Given the description of an element on the screen output the (x, y) to click on. 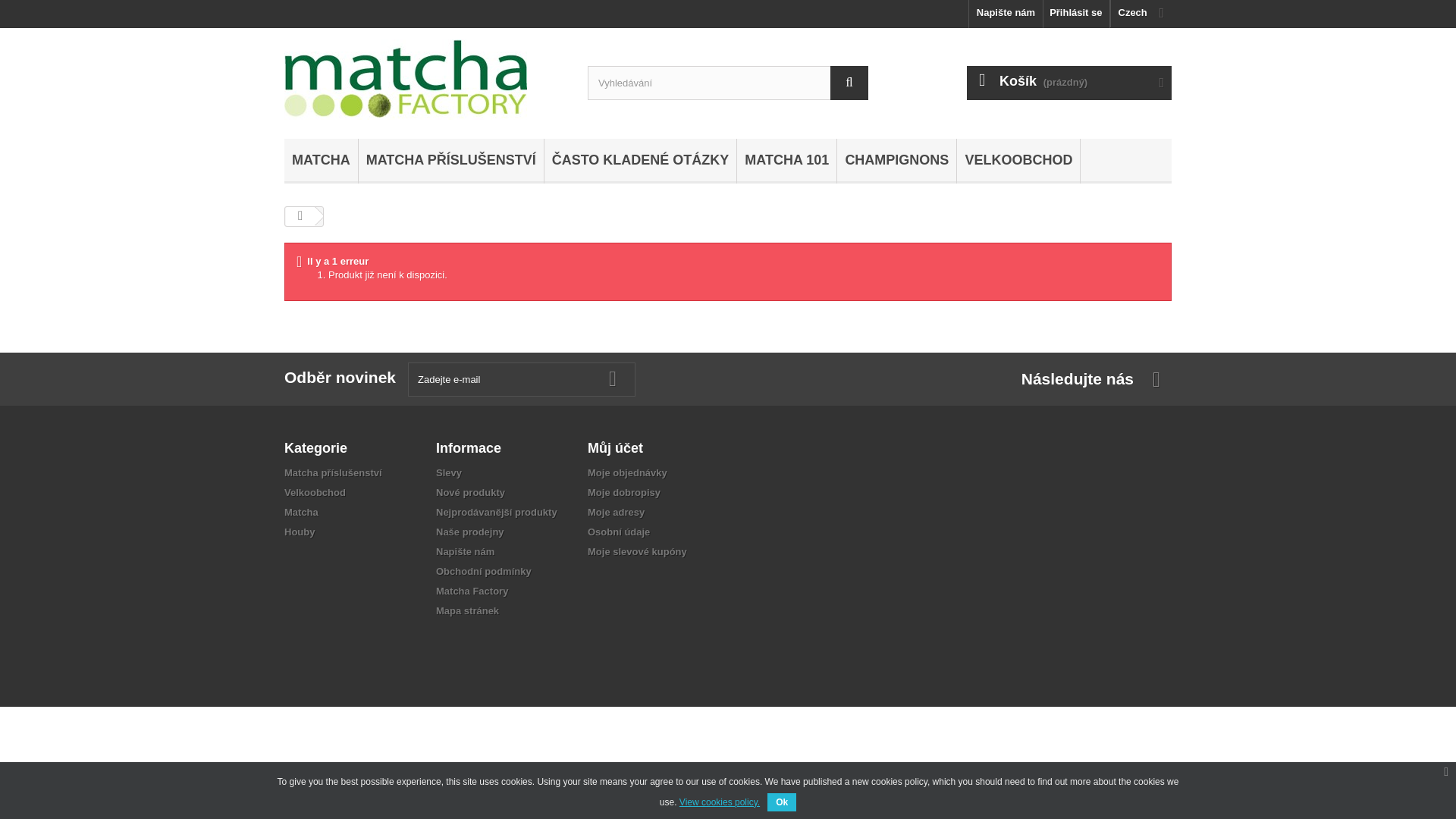
Matcha Factory (423, 79)
MATCHA (320, 160)
CHAMPIGNONS (896, 160)
VELKOOBCHOD (1018, 160)
MATCHA 101 (785, 160)
Zadejte e-mail (520, 379)
